Given the description of an element on the screen output the (x, y) to click on. 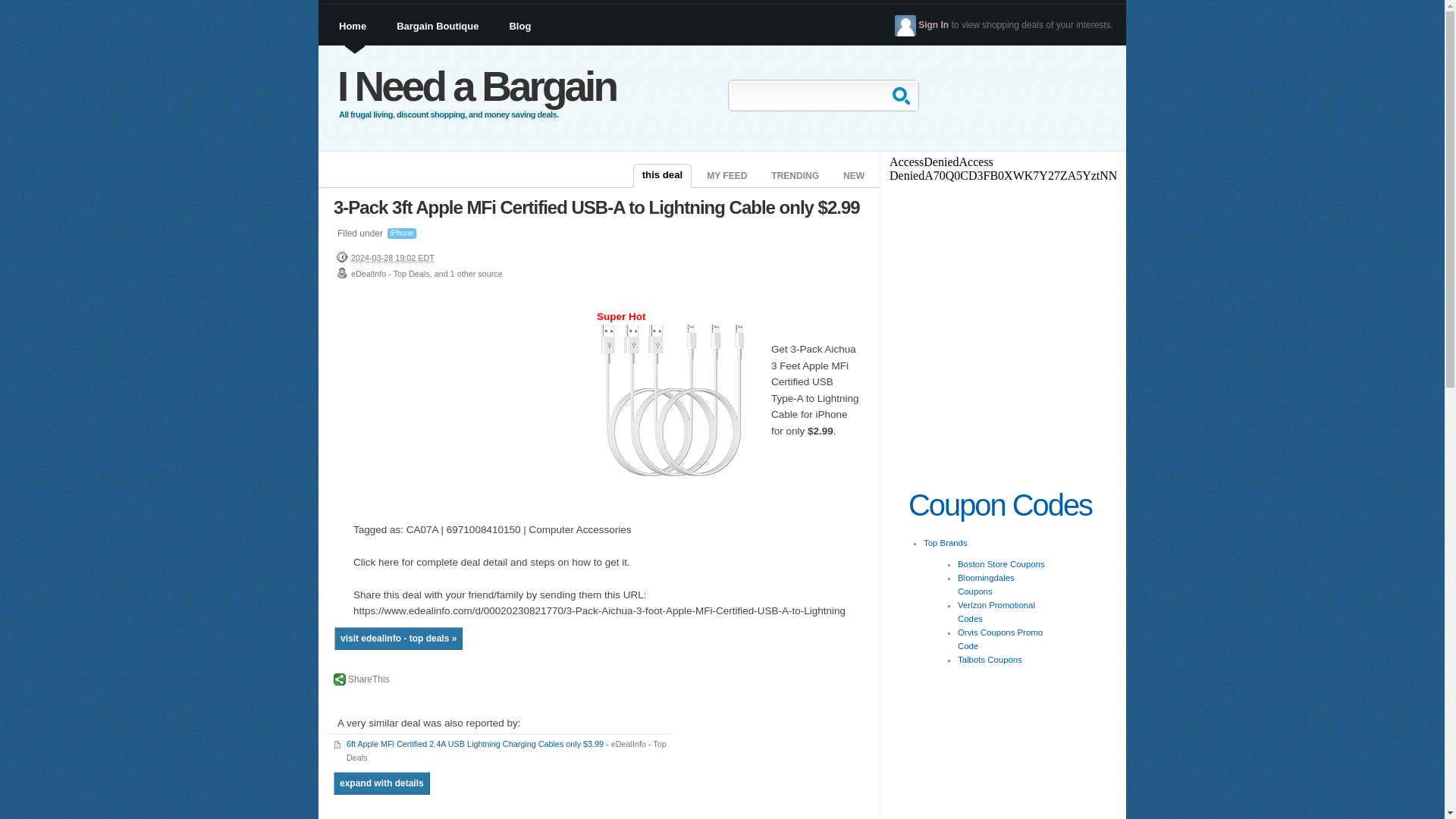
expand with details (381, 783)
this deal (663, 175)
Top Brands (945, 542)
ShareThis (361, 679)
Verizon Promotional Codes (996, 611)
my feed (726, 176)
The most recently published deals (853, 176)
Home (355, 36)
TRENDING (794, 176)
Coupon Codes (1000, 504)
